Given the description of an element on the screen output the (x, y) to click on. 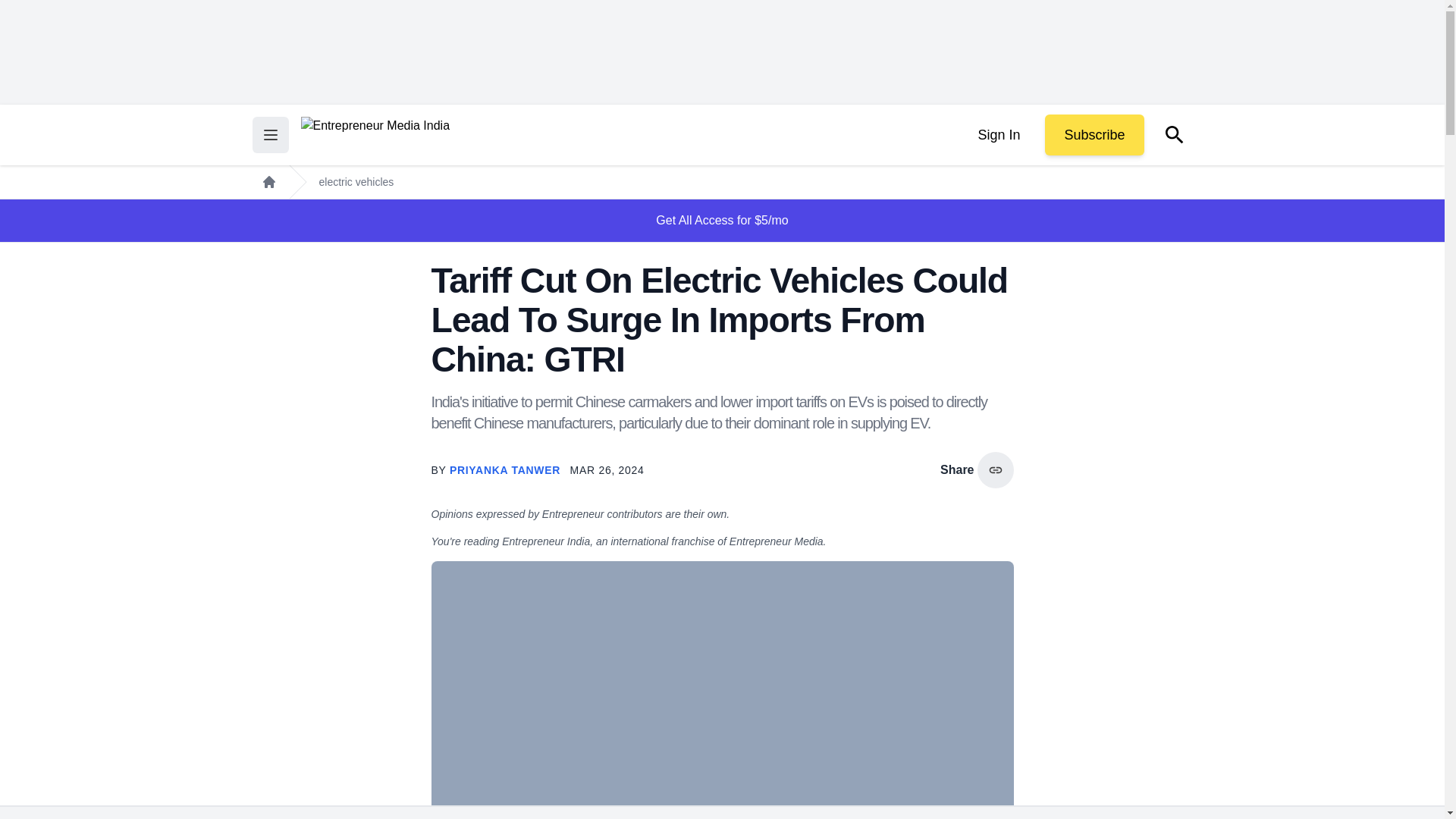
Subscribe (1093, 134)
copy (994, 470)
Return to the home page (374, 135)
Sign In (998, 134)
